Given the description of an element on the screen output the (x, y) to click on. 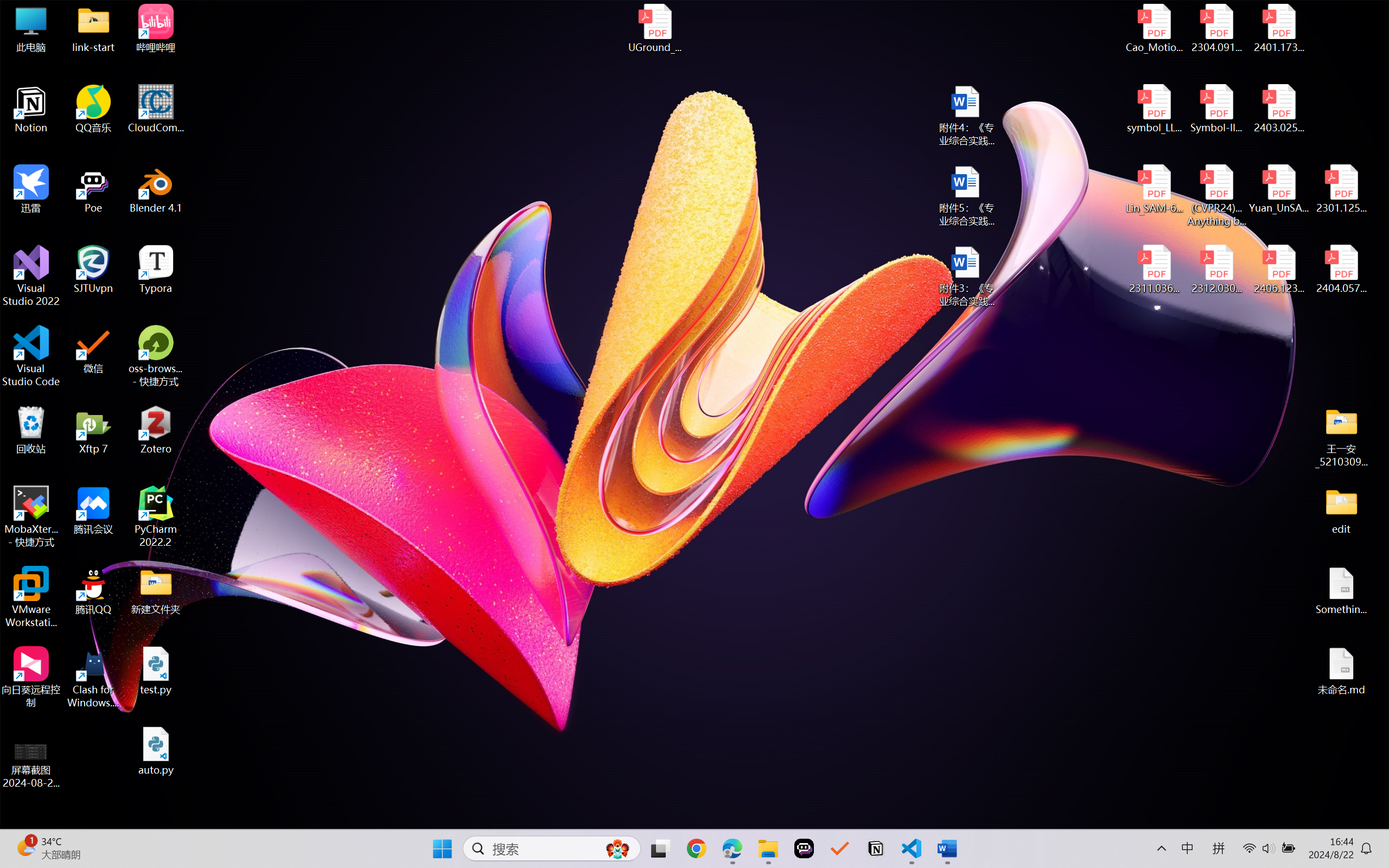
2304.09121v3.pdf (1216, 28)
2401.17399v1.pdf (1278, 28)
Symbol-llm-v2.pdf (1216, 109)
